Given the description of an element on the screen output the (x, y) to click on. 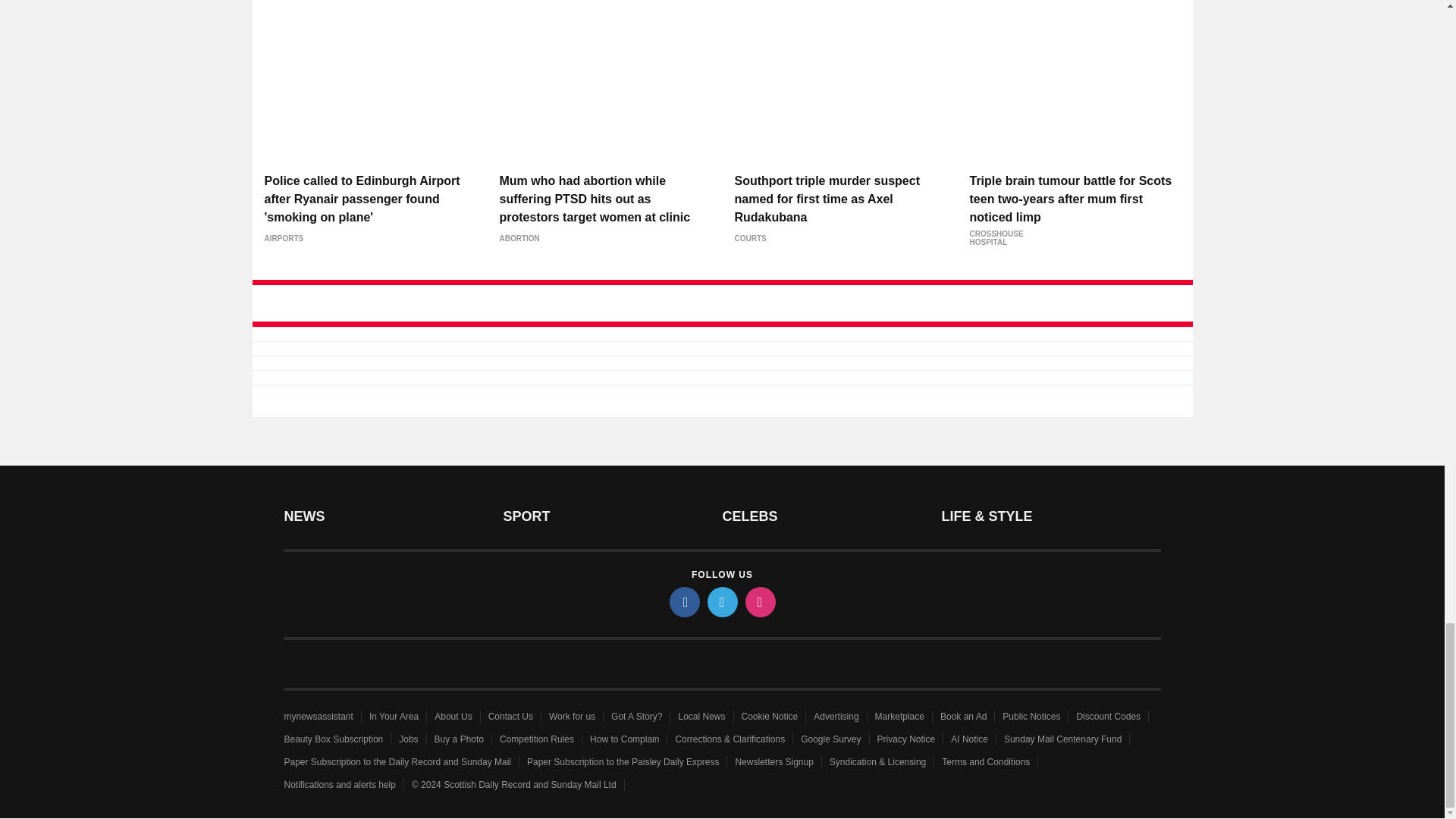
twitter (721, 602)
instagram (759, 602)
facebook (683, 602)
